Given the description of an element on the screen output the (x, y) to click on. 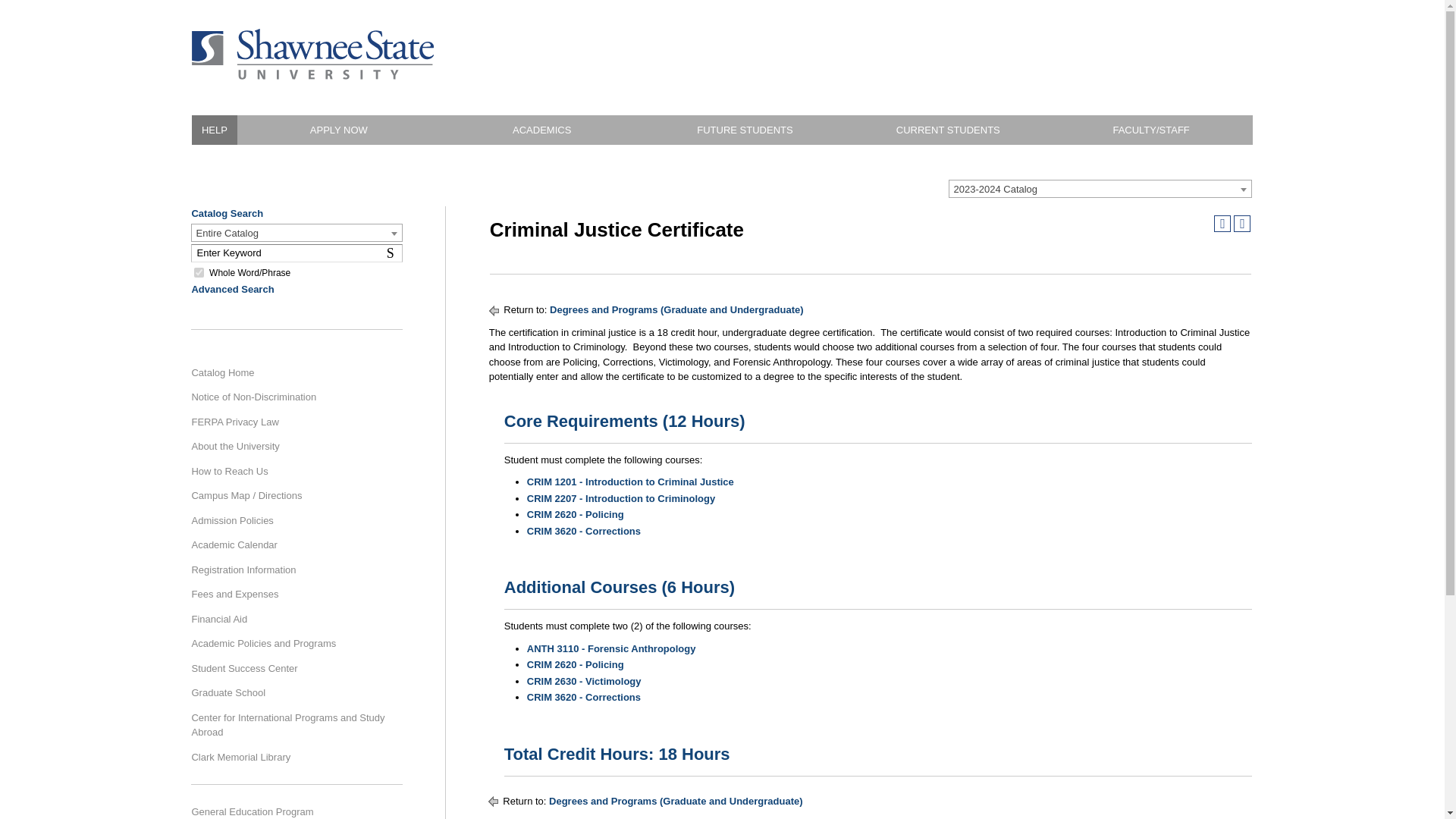
Academic Calendar (290, 545)
FERPA Privacy Law (290, 421)
Graduate School (290, 692)
Search Keyword Field, required (295, 253)
Entire Catalog (393, 252)
Fees and Expenses (296, 233)
Search (290, 594)
1 (393, 252)
About the University (198, 272)
General Education Program (290, 446)
GO (290, 809)
Exact Match (16, 9)
Student Success Center (198, 272)
How to Reach Us (290, 668)
